Given the description of an element on the screen output the (x, y) to click on. 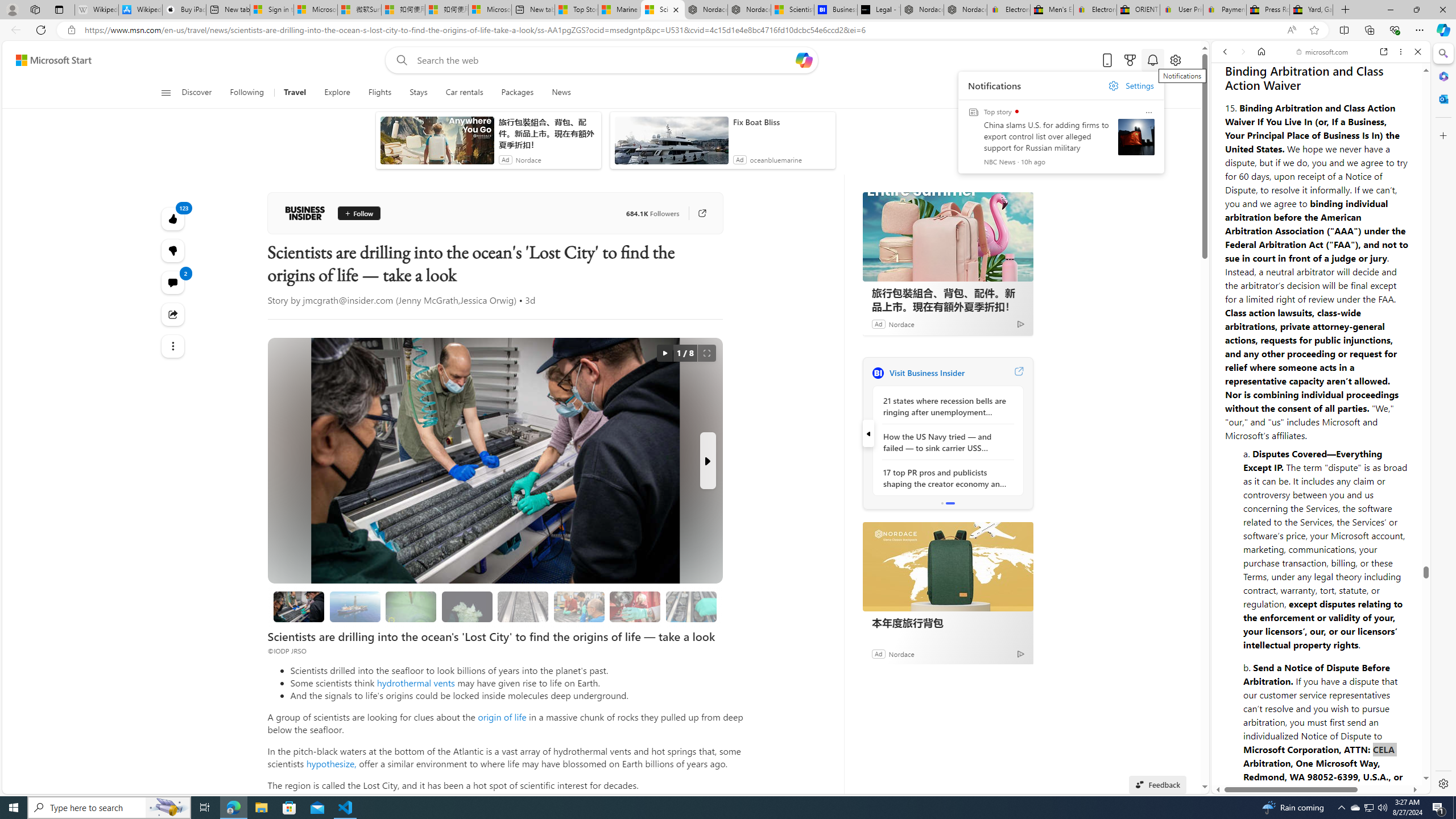
Buy iPad - Apple (184, 9)
Microsoft rewards (1129, 60)
Forward (1242, 51)
Open link in new tab (1383, 51)
Business Insider (877, 372)
